Given the description of an element on the screen output the (x, y) to click on. 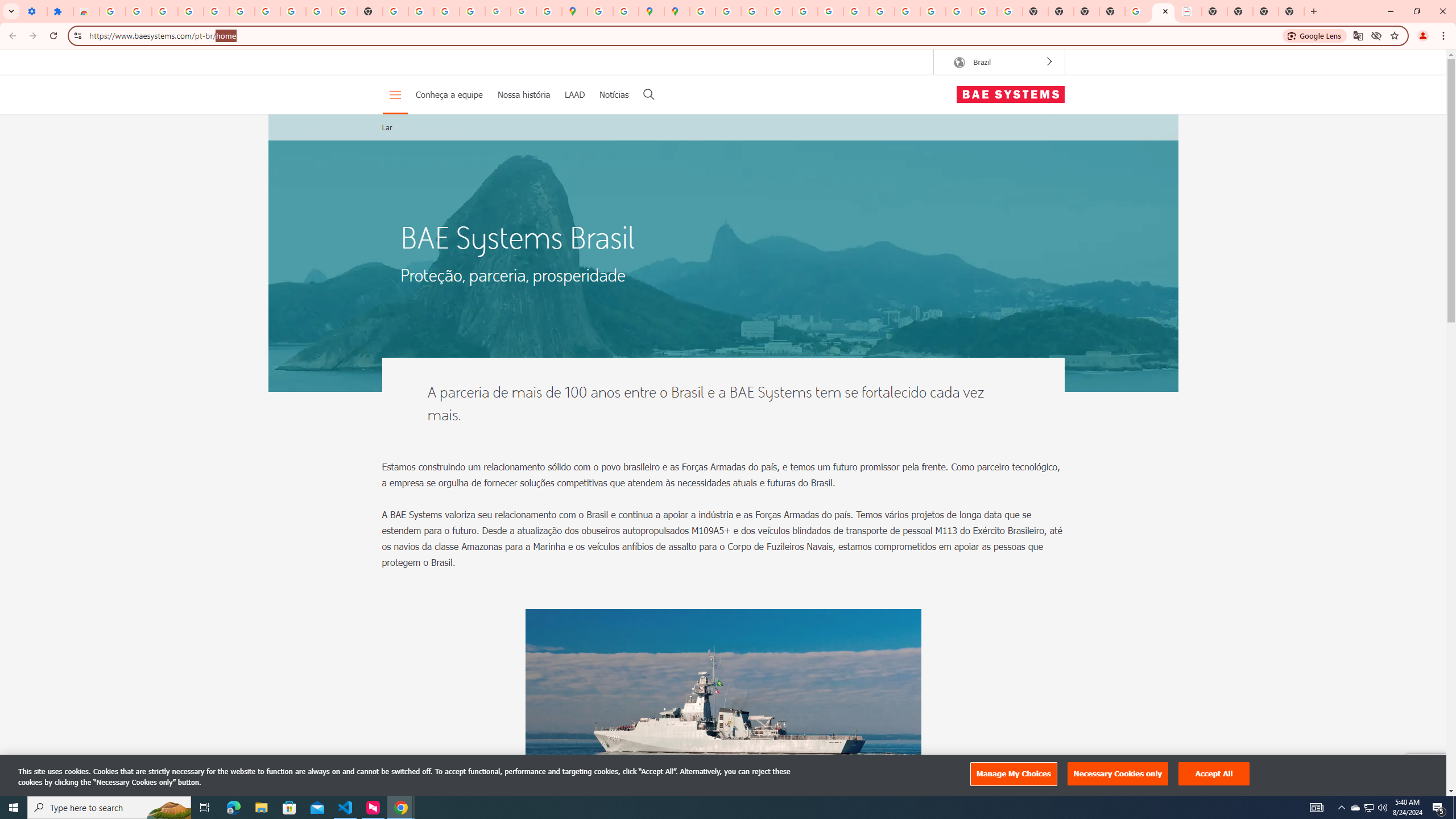
Third-party cookies blocked (1376, 35)
Delete photos & videos - Computer - Google Photos Help (165, 11)
https://scholar.google.com/ (395, 11)
Privacy Help Center - Policies Help (753, 11)
Sign in - Google Accounts (112, 11)
BAE Systems Brasil | BAE Systems (1188, 11)
Google Maps (574, 11)
